Given the description of an element on the screen output the (x, y) to click on. 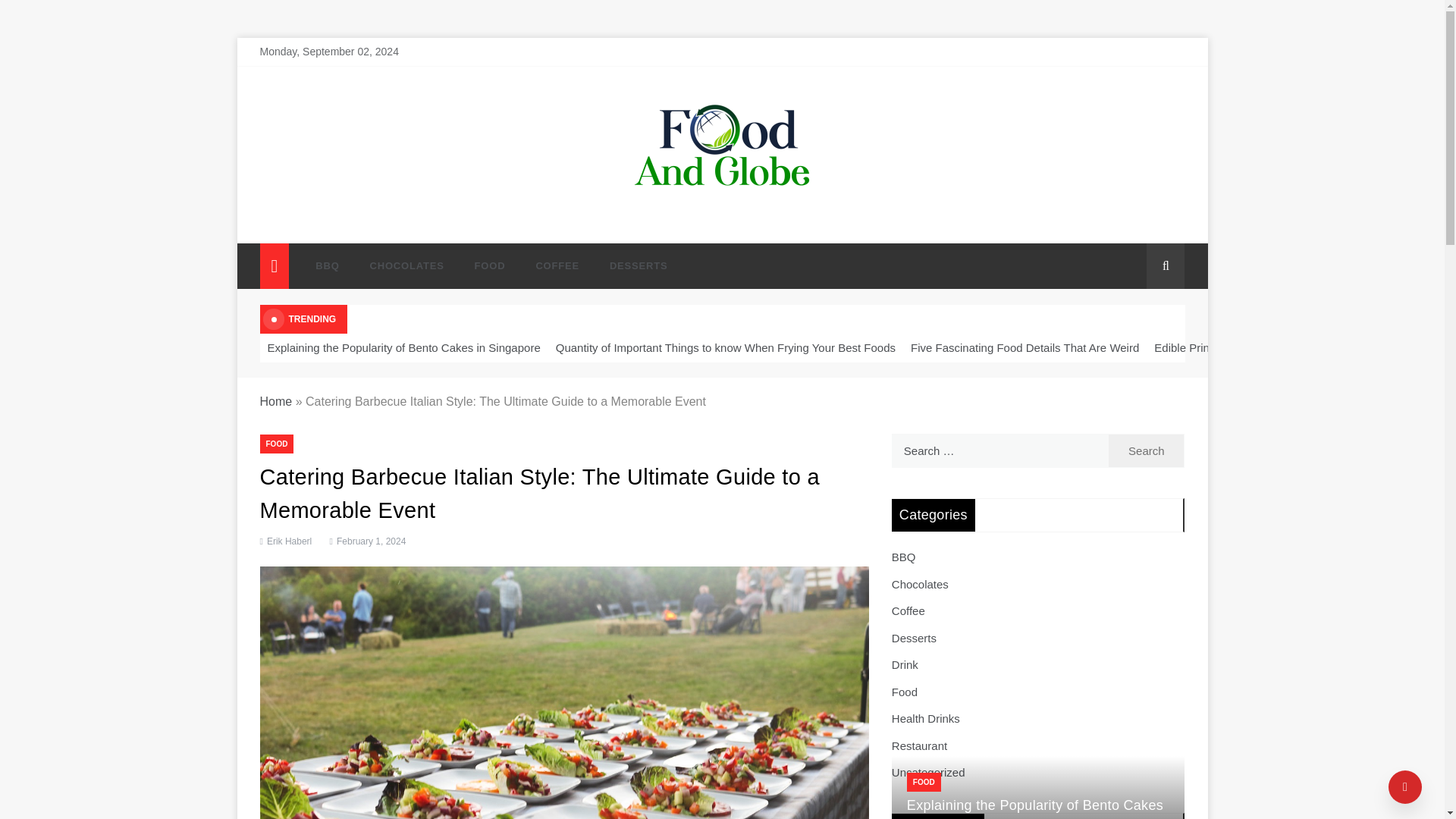
February 1, 2024 (366, 541)
COFFEE (556, 266)
Go to Top (1405, 786)
Explaining the Popularity of Bento Cakes in Singapore (403, 347)
Search (1146, 450)
Edible Printing: Makes Boring Food Attractive (1268, 347)
Chocolates (920, 584)
Home (275, 400)
BBQ (326, 266)
